Given the description of an element on the screen output the (x, y) to click on. 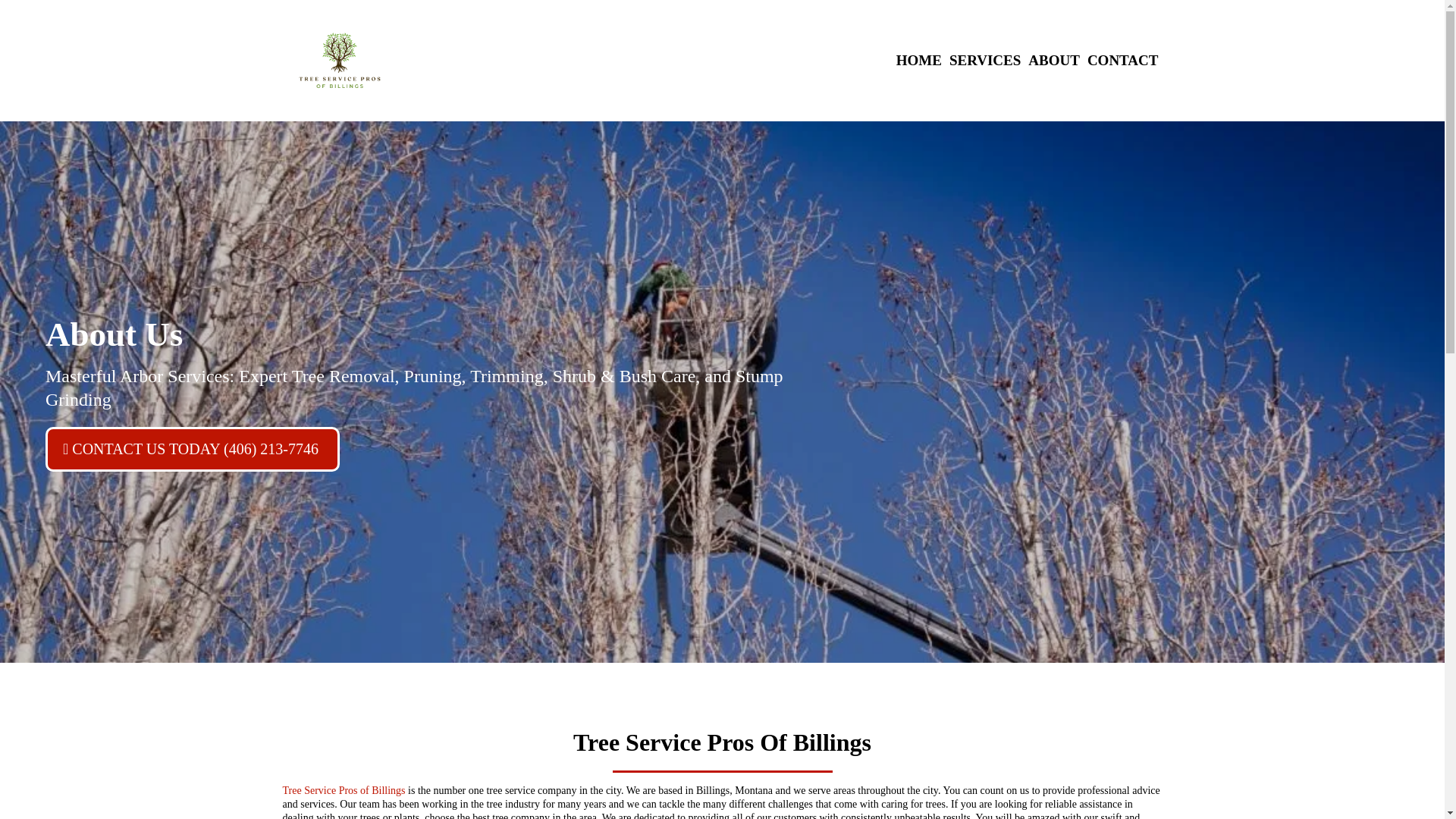
CONTACT (1122, 60)
ABOUT (1054, 60)
SERVICES (984, 60)
HOME (918, 60)
Tree Service Pros of Billings (343, 790)
